Given the description of an element on the screen output the (x, y) to click on. 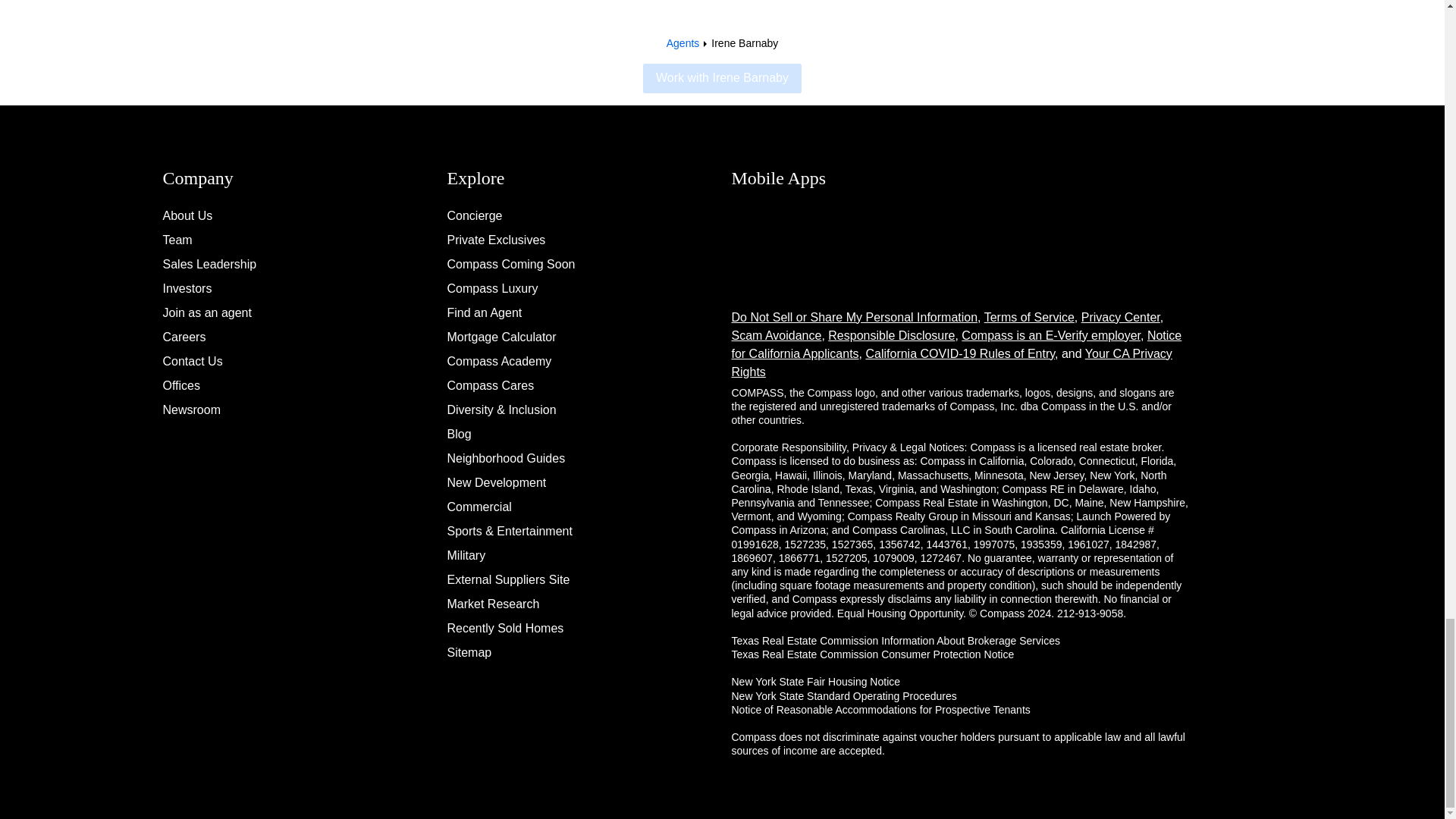
Instagram (1272, 171)
Facebook (1272, 207)
Twitter (1272, 243)
